Given the description of an element on the screen output the (x, y) to click on. 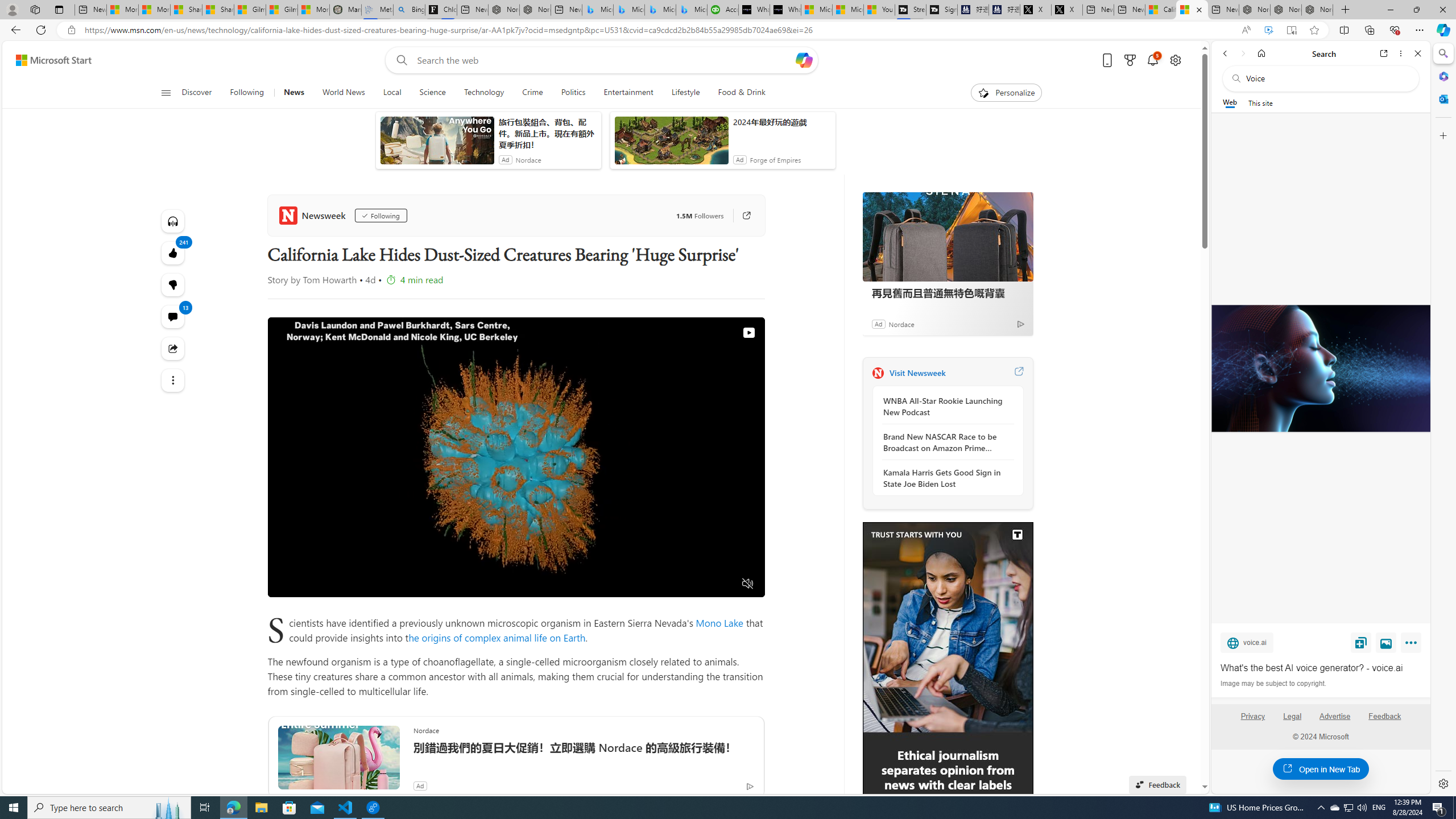
Technology (483, 92)
Share this story (172, 348)
Restore (1416, 9)
Read aloud this page (Ctrl+Shift+U) (1245, 29)
Class: button-glyph (165, 92)
What's the best AI voice generator? - voice.ai (785, 9)
Microsoft Bing Travel - Shangri-La Hotel Bangkok (691, 9)
Open navigation menu (164, 92)
Outlook (1442, 98)
Open in New Tab (1321, 768)
Shanghai, China weather forecast | Microsoft Weather (218, 9)
Add this page to favorites (Ctrl+D) (1314, 29)
Progress Bar (516, 569)
